Given the description of an element on the screen output the (x, y) to click on. 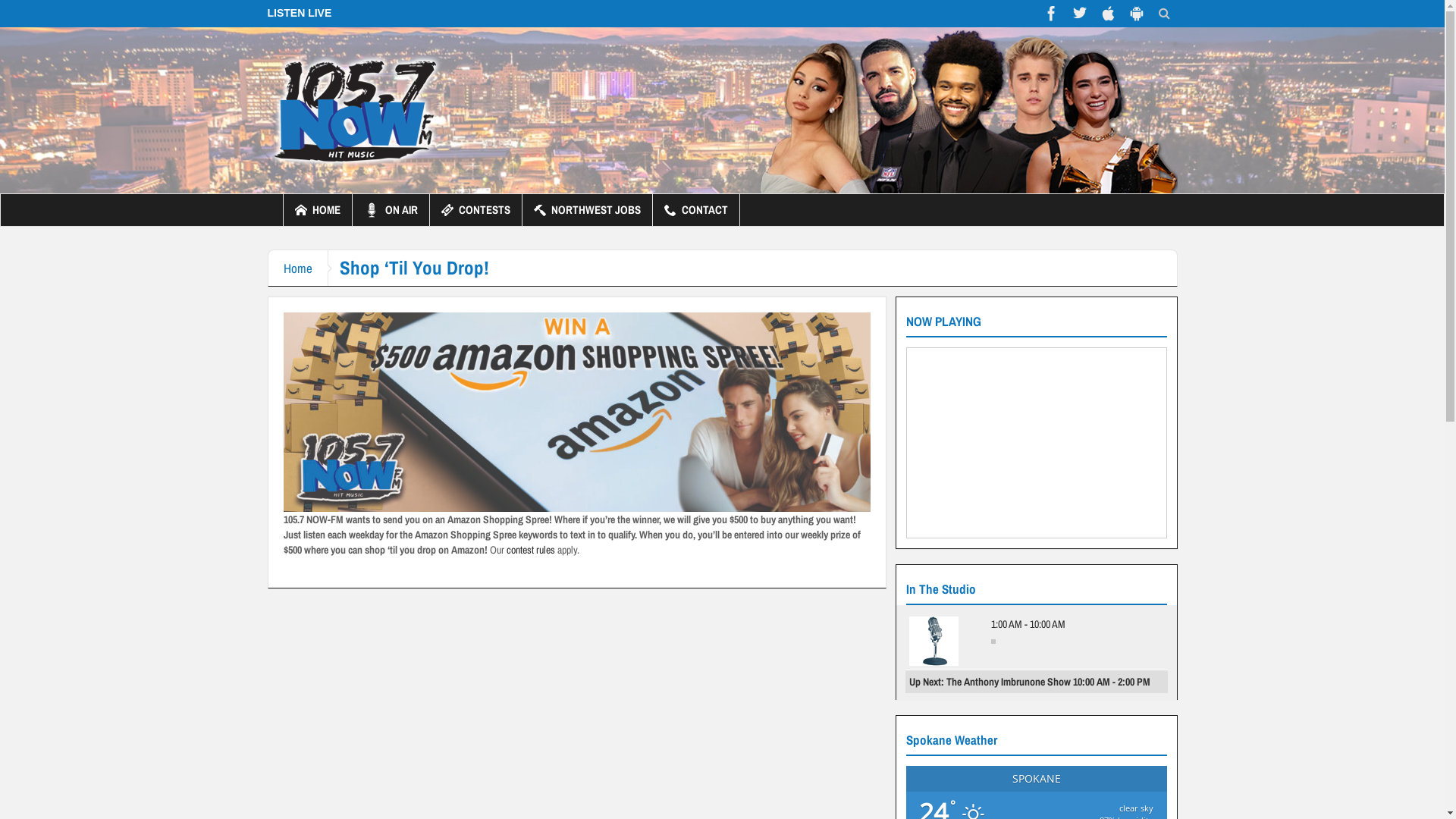
Home Element type: text (298, 267)
HOME Element type: text (317, 209)
ON AIR Element type: text (389, 209)
NORTHWEST JOBS Element type: text (586, 209)
105.7 Now FM Element type: hover (354, 109)
contest rules Element type: text (530, 549)
CONTESTS Element type: text (474, 209)
LISTEN LIVE Element type: text (298, 12)
CONTACT Element type: text (695, 209)
